Given the description of an element on the screen output the (x, y) to click on. 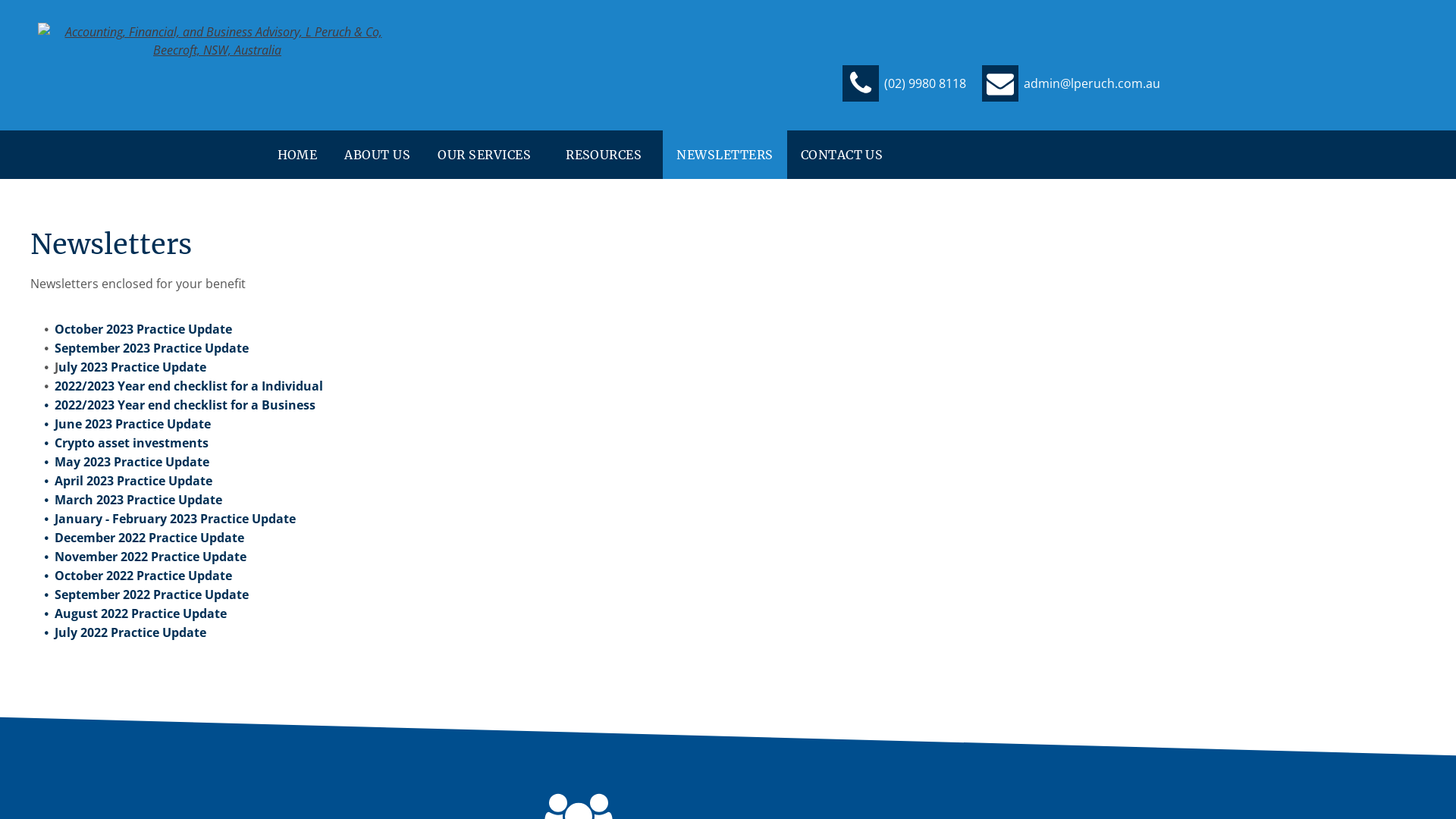
November 2022 Practice Update Element type: text (150, 556)
May 2023 Practice Update Element type: text (131, 461)
2022/2023 Year end checklist for a Business Element type: text (184, 404)
December 2022 Practice Update Element type: text (149, 537)
Crypto asset investments Element type: text (131, 442)
October 2023 Practice Update Element type: text (143, 328)
August 2022 Practice Update Element type: text (140, 613)
October 2022 Practice Update Element type: text (143, 575)
June 2023 Practice Update Element type: text (132, 423)
OUR SERVICES Element type: text (487, 154)
ABOUT US Element type: text (376, 154)
April 2023 Practice Update Element type: text (133, 480)
January - February 2023 Practice Update Element type: text (174, 518)
RESOURCES Element type: text (607, 154)
uly 2023 Practice Update Element type: text (132, 366)
NEWSLETTERS Element type: text (724, 154)
CONTACT US Element type: text (842, 154)
(02) 9980 8118 Element type: text (904, 81)
September 2023 Practice Update Element type: text (151, 347)
March 2023 Practice Update Element type: text (138, 499)
2022/2023 Year end checklist for a Individual Element type: text (188, 385)
September 2022 Practice Update Element type: text (151, 594)
admin@lperuch.com.au Element type: text (1071, 81)
July 2022 Practice Update Element type: text (130, 632)
HOME Element type: text (297, 154)
